Given the description of an element on the screen output the (x, y) to click on. 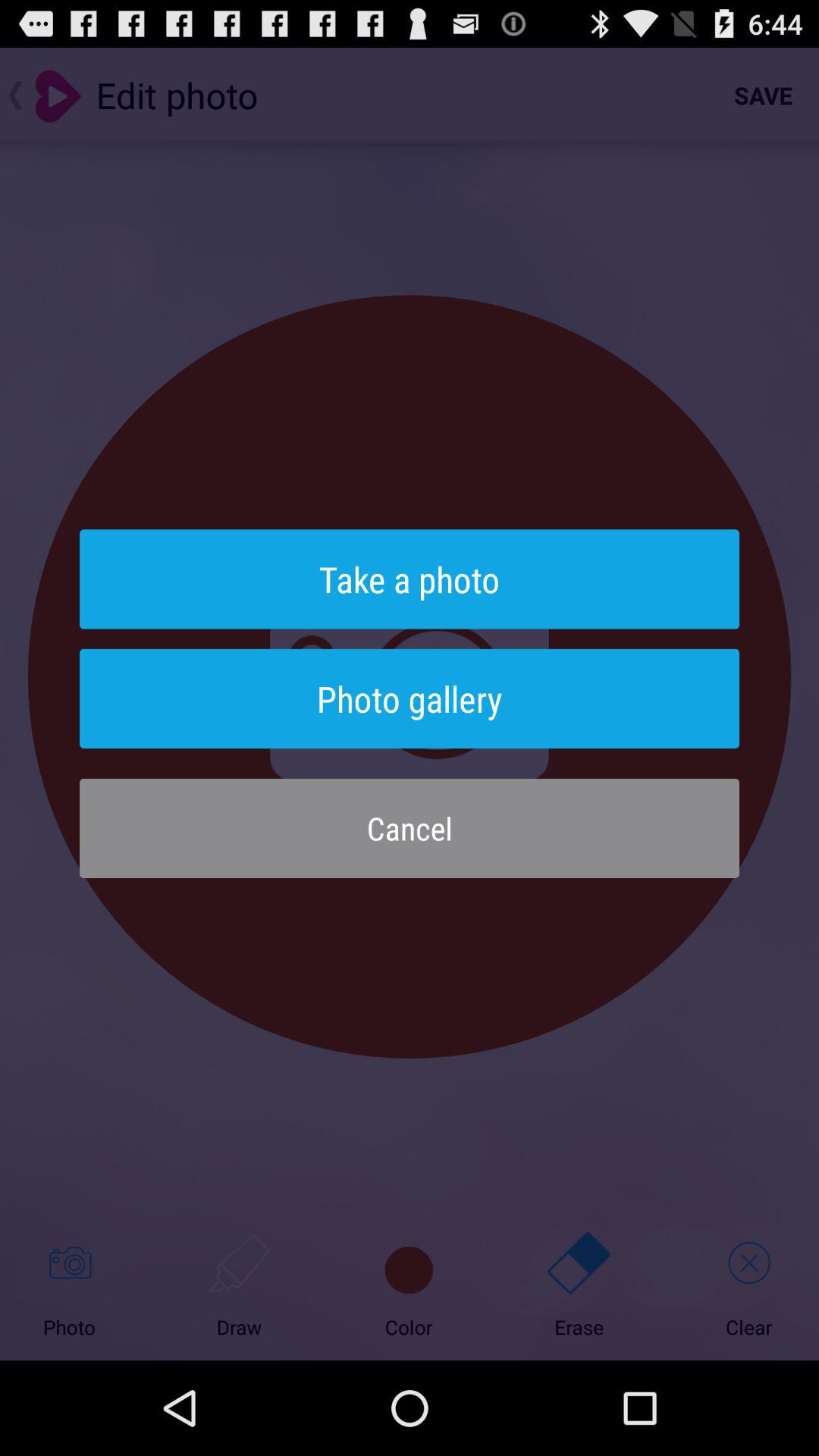
open photo gallery button (409, 698)
